Given the description of an element on the screen output the (x, y) to click on. 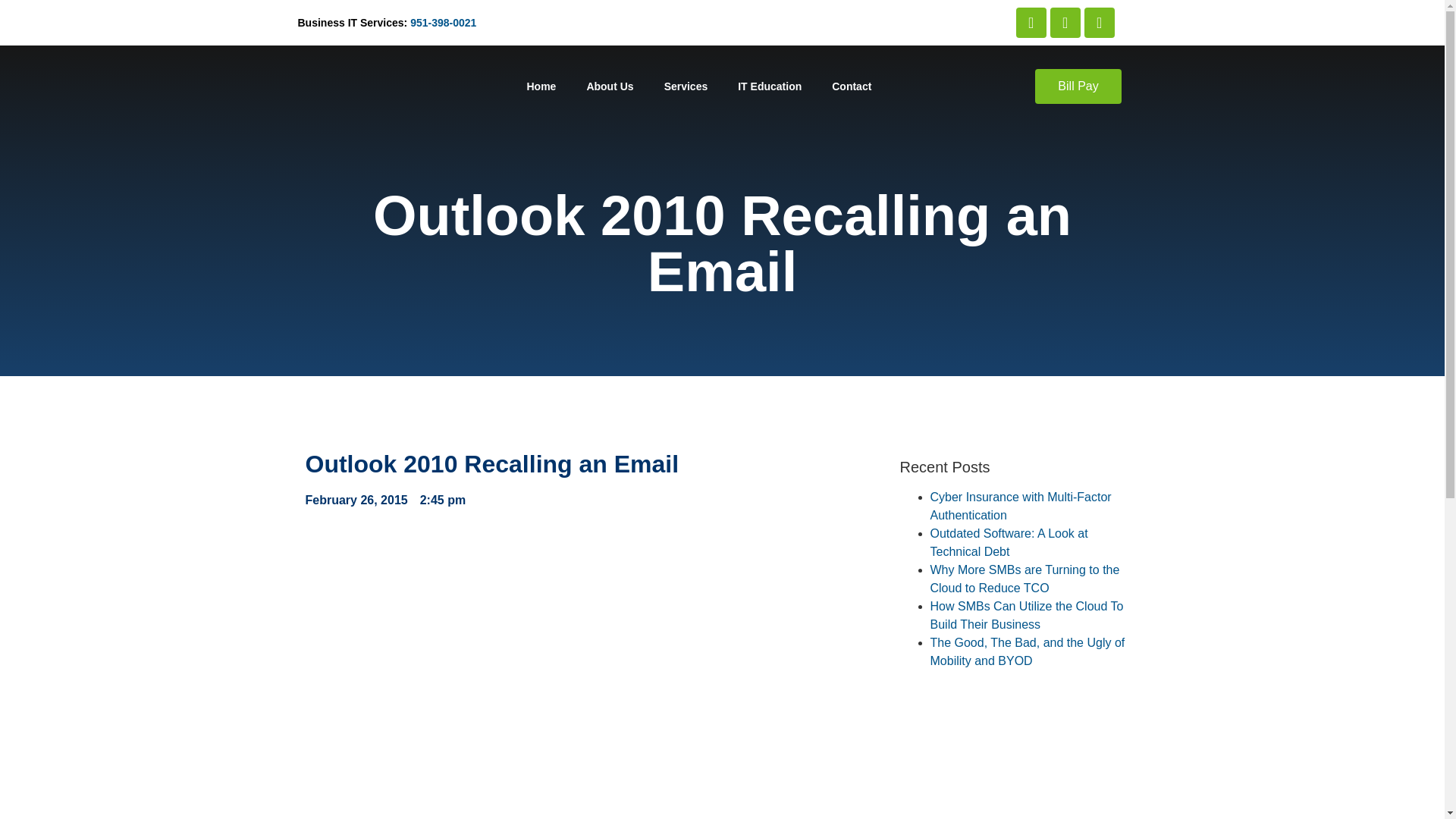
February 26, 2015 (355, 500)
Cyber Insurance with Multi-Factor Authentication (1020, 505)
951-398-0021 (443, 22)
Home (540, 86)
Outdated Software: A Look at Technical Debt (1008, 542)
IT Education (769, 86)
How SMBs Can Utilize the Cloud To Build Their Business (1026, 614)
About Us (608, 86)
The Good, The Bad, and the Ugly of Mobility and BYOD (1027, 651)
Why More SMBs are Turning to the Cloud to Reduce TCO (1024, 578)
